Given the description of an element on the screen output the (x, y) to click on. 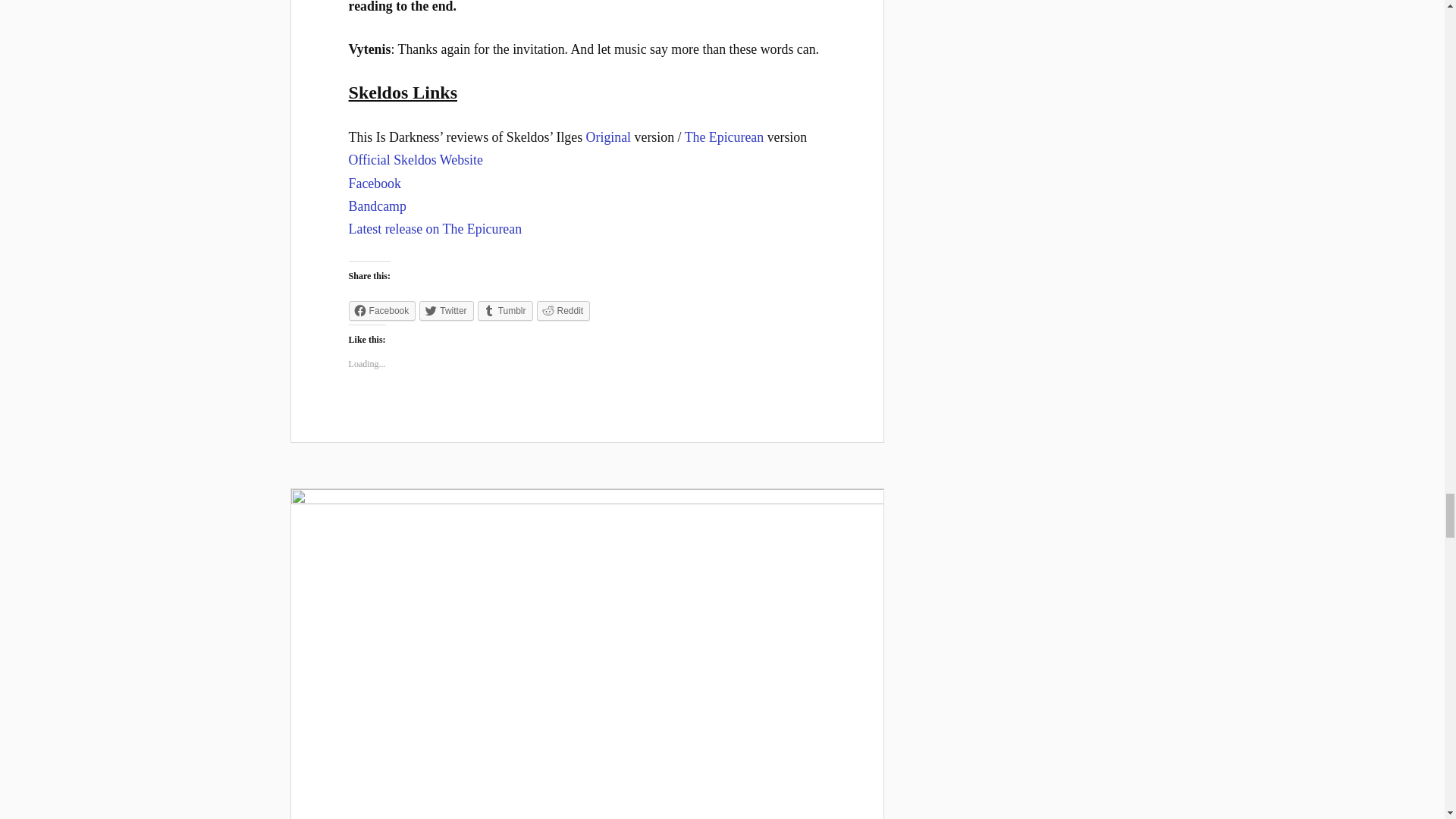
Click to share on Twitter (446, 311)
Click to share on Tumblr (504, 311)
Click to share on Facebook (382, 311)
Click to share on Reddit (564, 311)
